Given the description of an element on the screen output the (x, y) to click on. 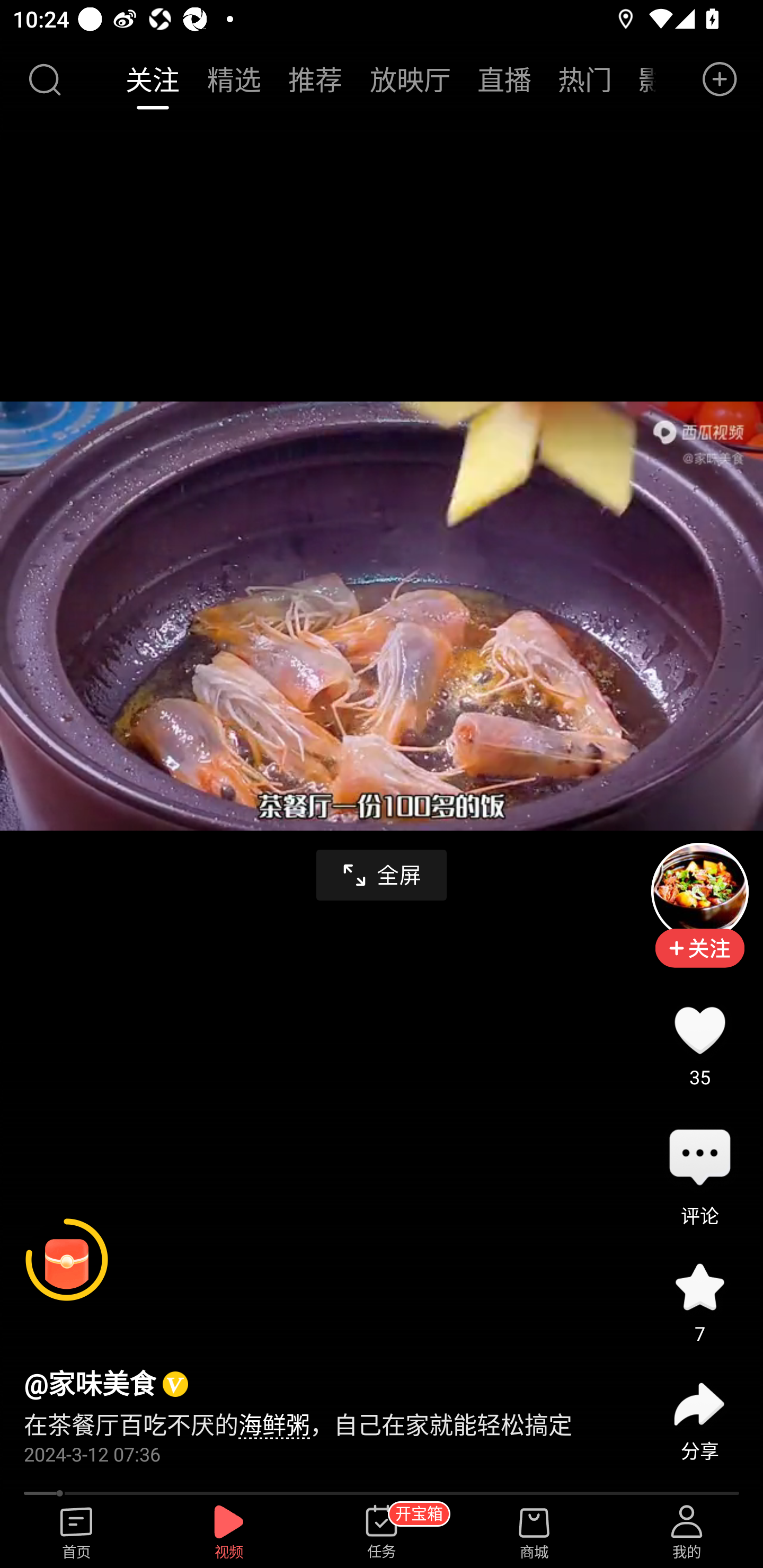
关注 (153, 79)
精选 (233, 79)
推荐 (315, 79)
放映厅 (409, 79)
直播 (504, 79)
热门 (584, 79)
搜索 (44, 79)
发布 (720, 79)
头像 (699, 891)
全屏播放 (381, 874)
加关注 (699, 960)
点赞35 35 (699, 1030)
评论 评论 评论 (699, 1158)
阅读赚金币 (66, 1259)
收藏 7 (699, 1286)
分享 (699, 1403)
@家味美食 (89, 1384)
首页 (76, 1532)
视频 (228, 1532)
任务 开宝箱 (381, 1532)
商城 (533, 1532)
我的 (686, 1532)
